Given the description of an element on the screen output the (x, y) to click on. 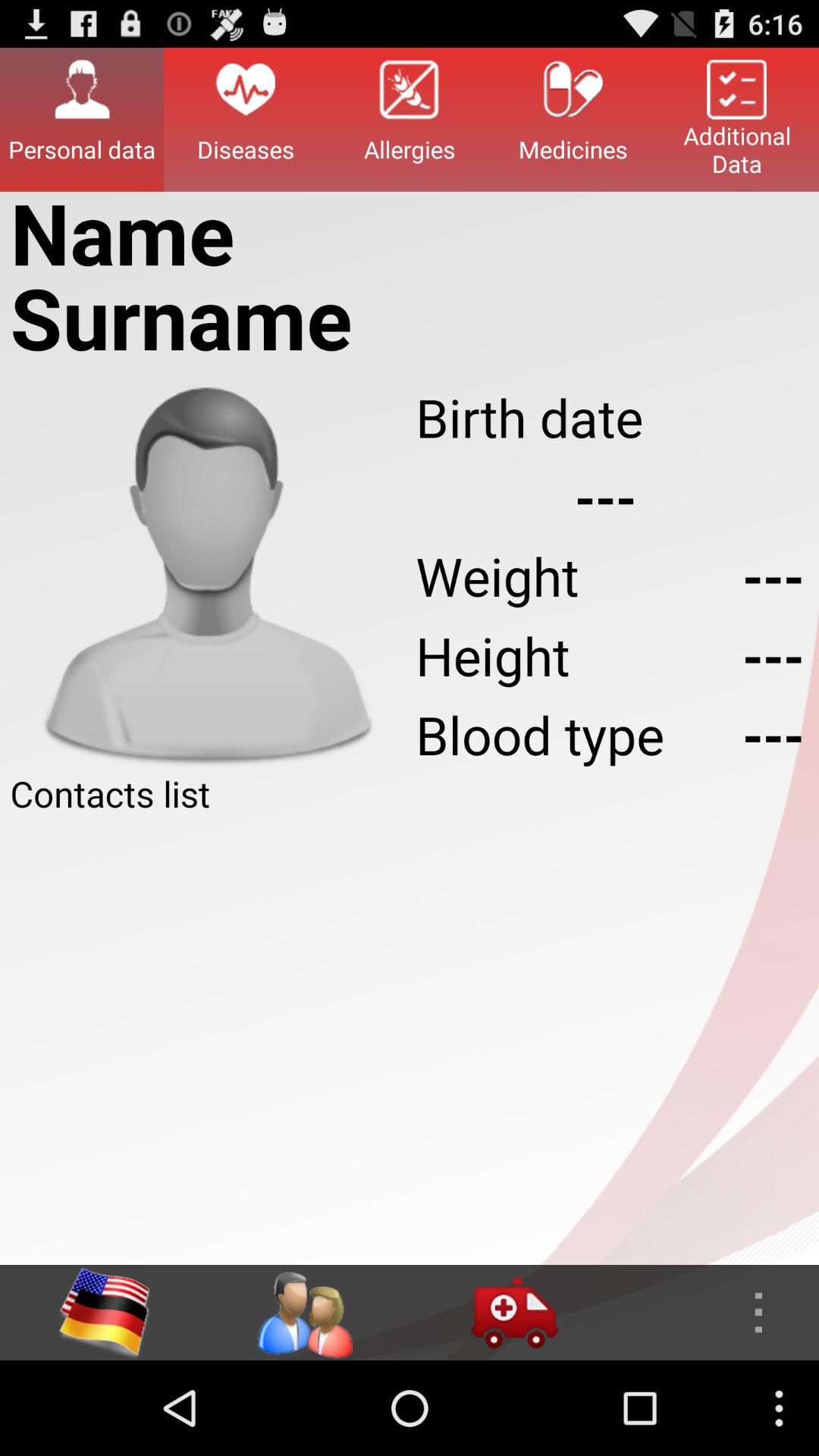
access contacts list (304, 1312)
